Given the description of an element on the screen output the (x, y) to click on. 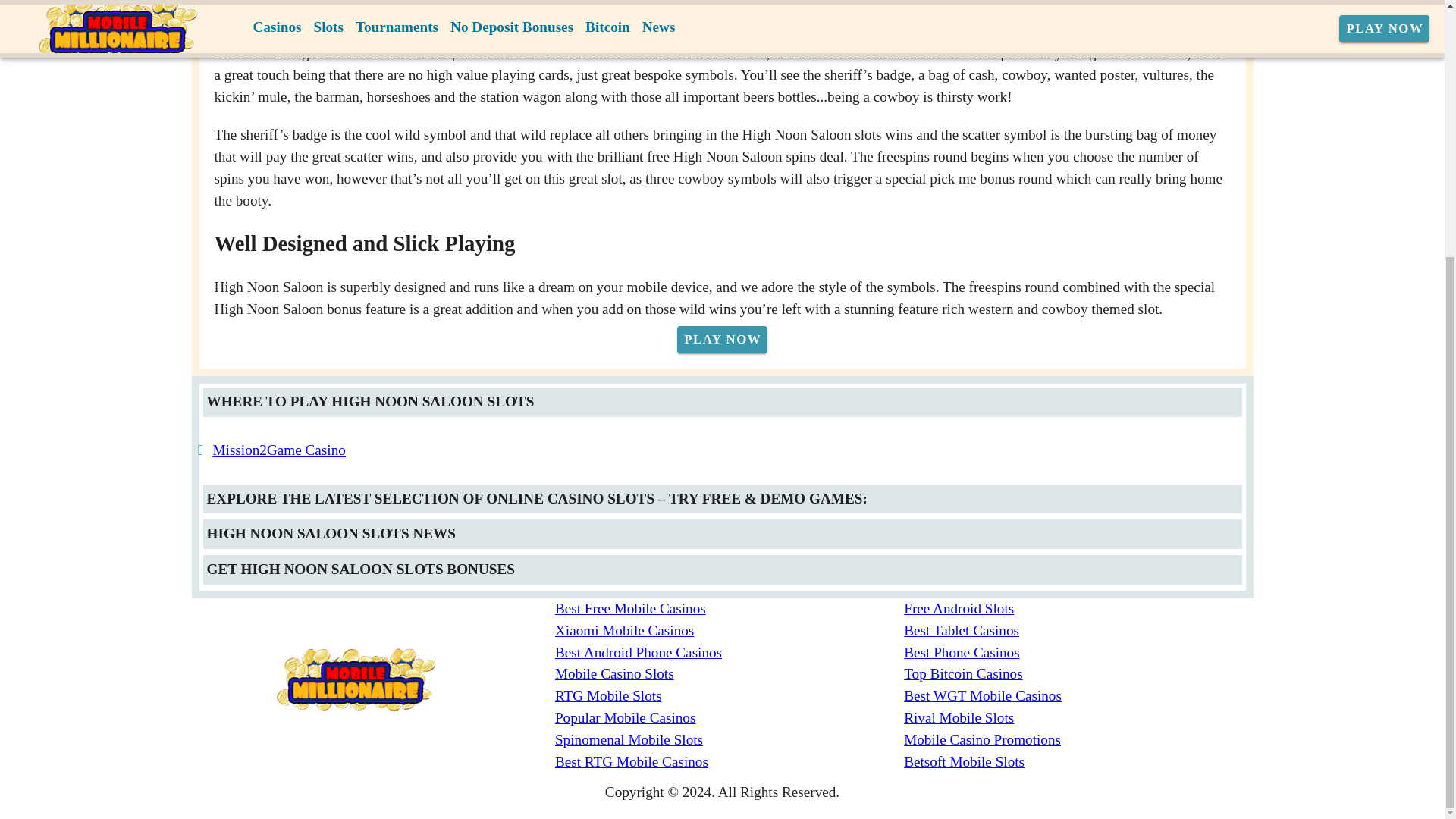
RTG Mobile Slots (729, 696)
Best Tablet Casinos (1078, 630)
Rival Mobile Slots (1078, 718)
Free Android Slots (1078, 608)
Best RTG Mobile Casinos (729, 762)
Best Free Mobile Casinos (729, 608)
PLAY NOW (722, 338)
Mobile Casino Promotions (1078, 740)
Betsoft Mobile Slots (1078, 762)
Mobile Casino Slots (729, 674)
Best Android Phone Casinos (729, 653)
Spinomenal Mobile Slots (729, 740)
Best Phone Casinos (1078, 653)
Top Bitcoin Casinos (1078, 674)
Xiaomi Mobile Casinos (729, 630)
